Given the description of an element on the screen output the (x, y) to click on. 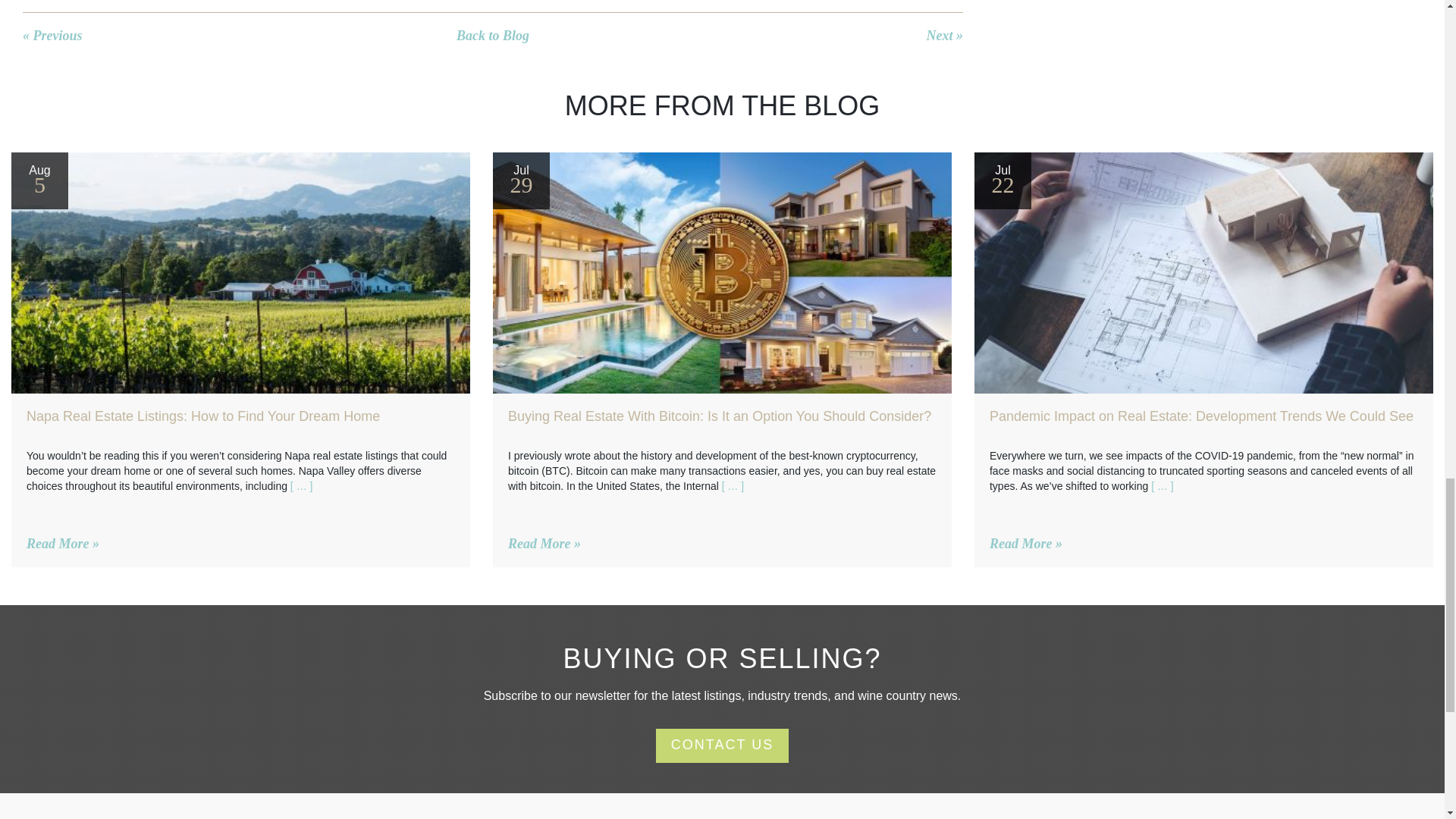
Real Estate Bitcoin (722, 272)
Real estate listings Napa (240, 272)
Pandemic Impact on Real Estate (1203, 272)
Back to Blog (493, 35)
